Given the description of an element on the screen output the (x, y) to click on. 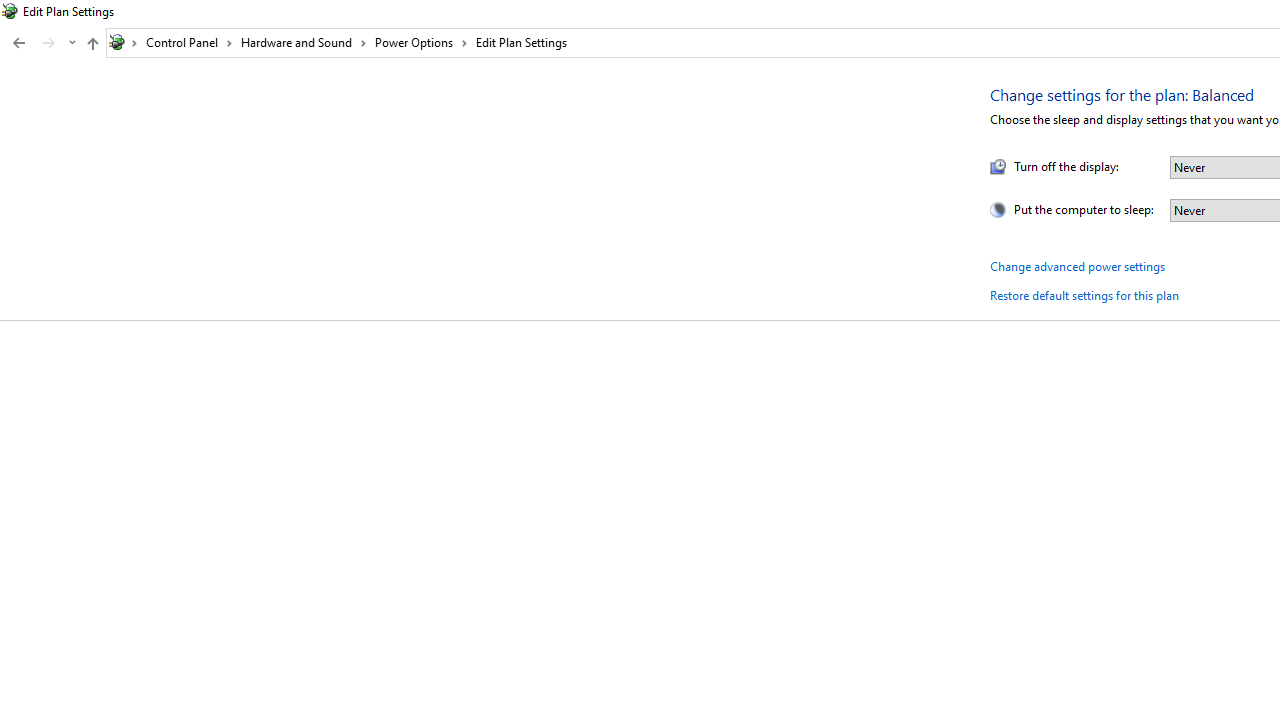
Control Panel (189, 42)
Recent locations (71, 43)
Power Options (421, 42)
Back to System and Security (Alt + Left Arrow) (18, 43)
Change advanced power settings (1076, 266)
All locations (124, 42)
Restore default settings for this plan (1083, 295)
System (10, 11)
System (10, 11)
Hardware and Sound (303, 42)
Forward (Alt + Right Arrow) (49, 43)
Navigation buttons (41, 43)
Up to "Power Options" (Alt + Up Arrow) (92, 43)
Edit Plan Settings (521, 42)
Up band toolbar (92, 46)
